Given the description of an element on the screen output the (x, y) to click on. 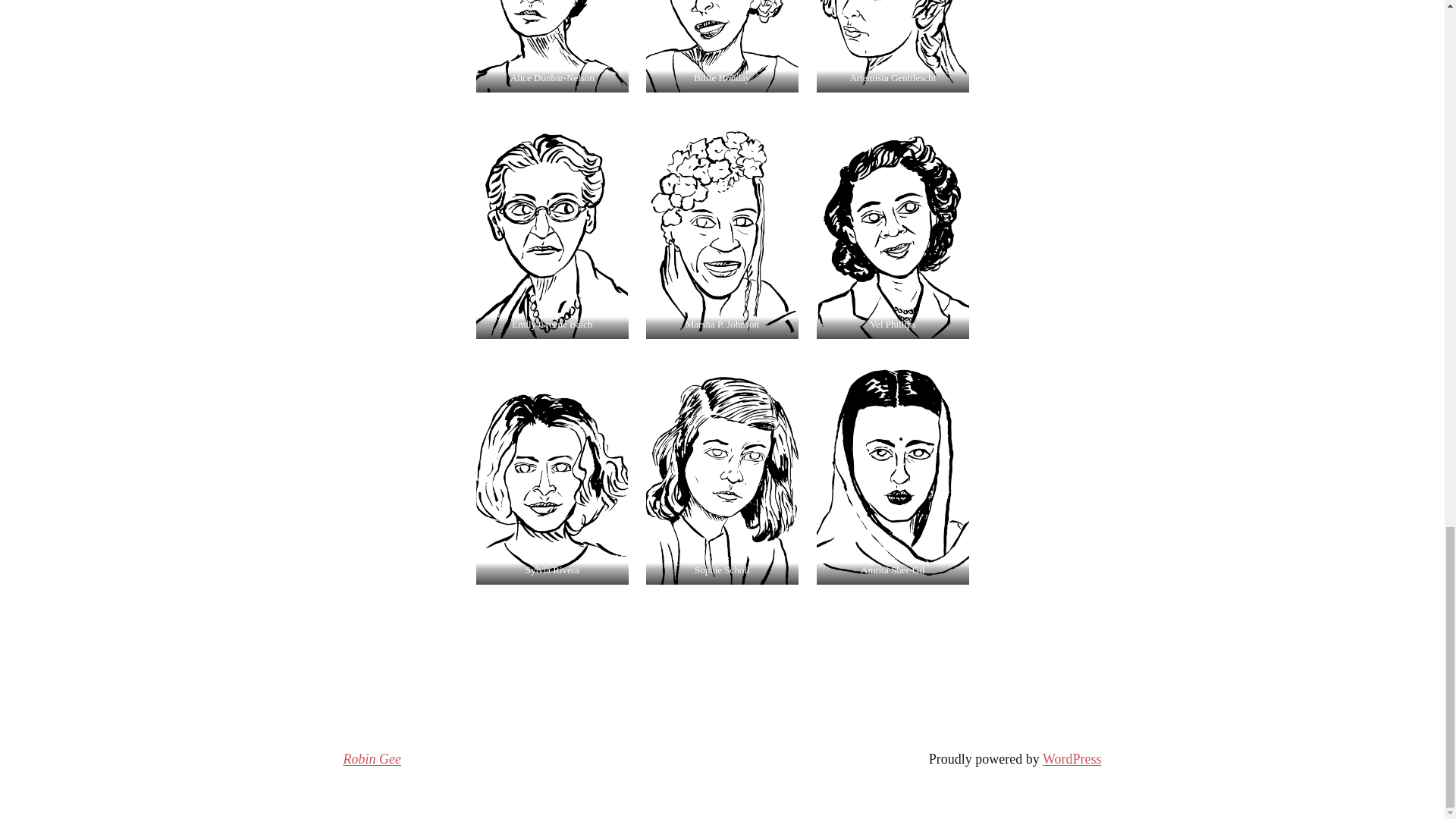
Robin Gee (371, 758)
WordPress (1072, 758)
